Given the description of an element on the screen output the (x, y) to click on. 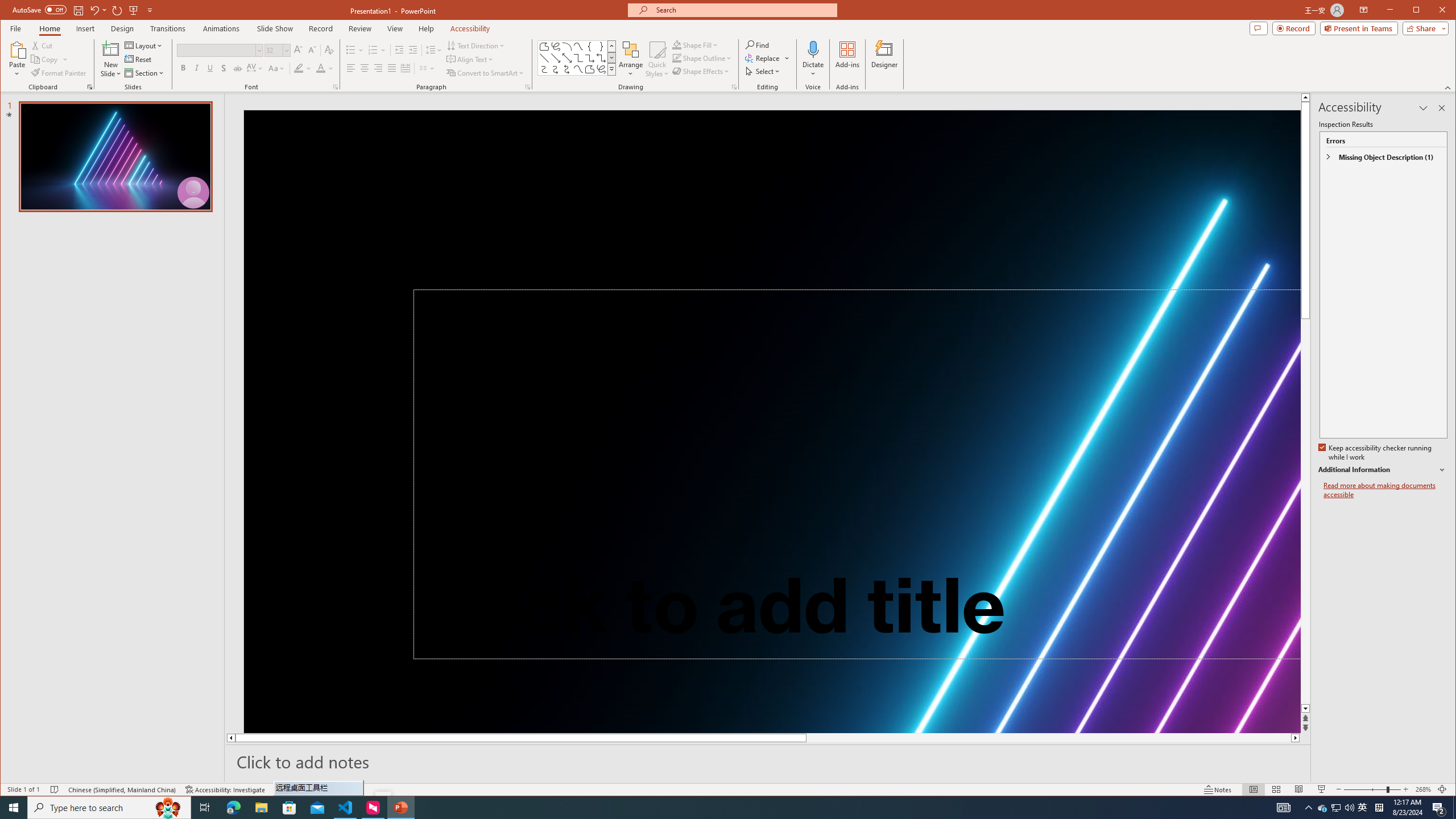
Zoom 268% (1422, 789)
